Given the description of an element on the screen output the (x, y) to click on. 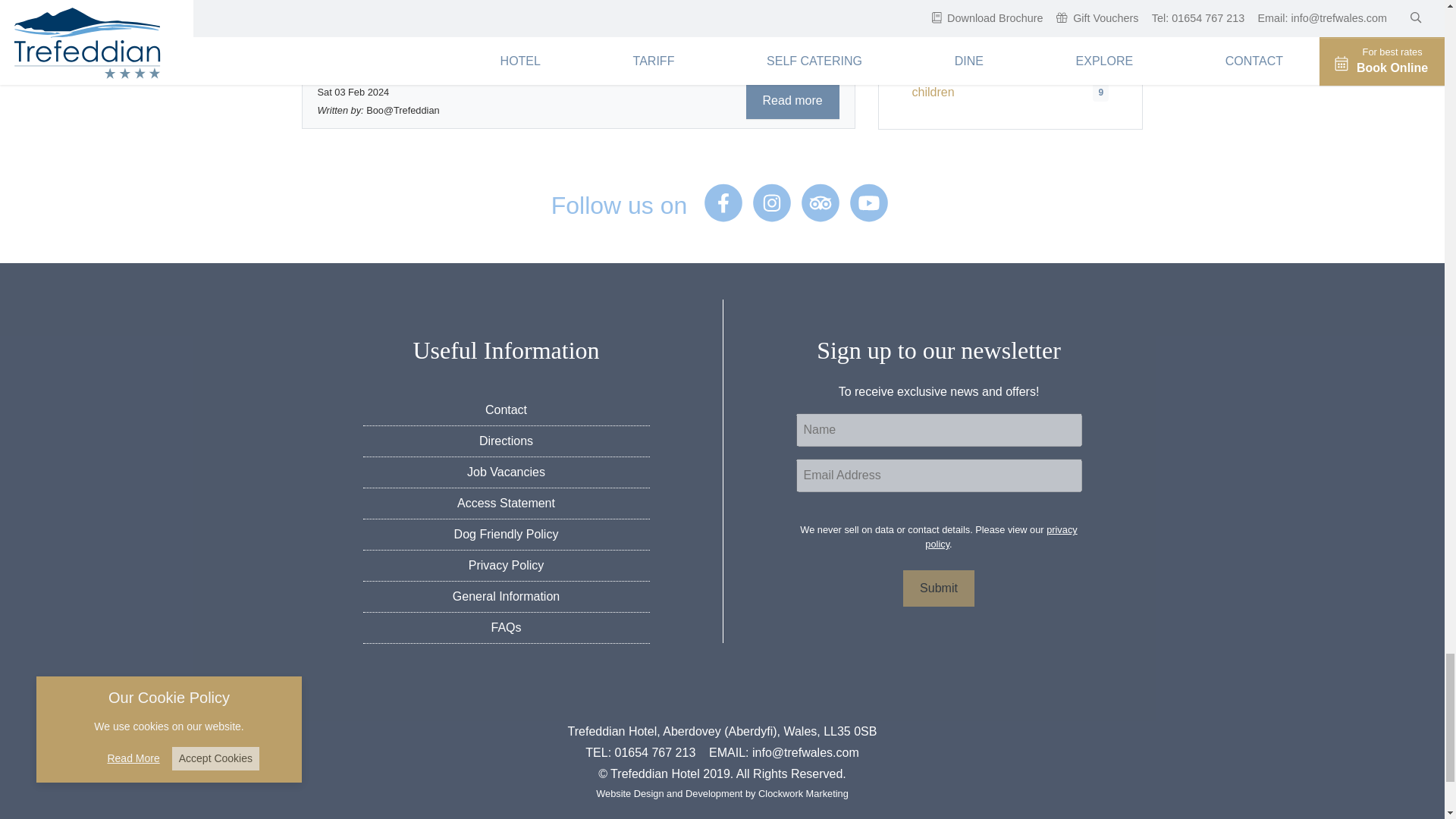
Submit (938, 588)
